Given the description of an element on the screen output the (x, y) to click on. 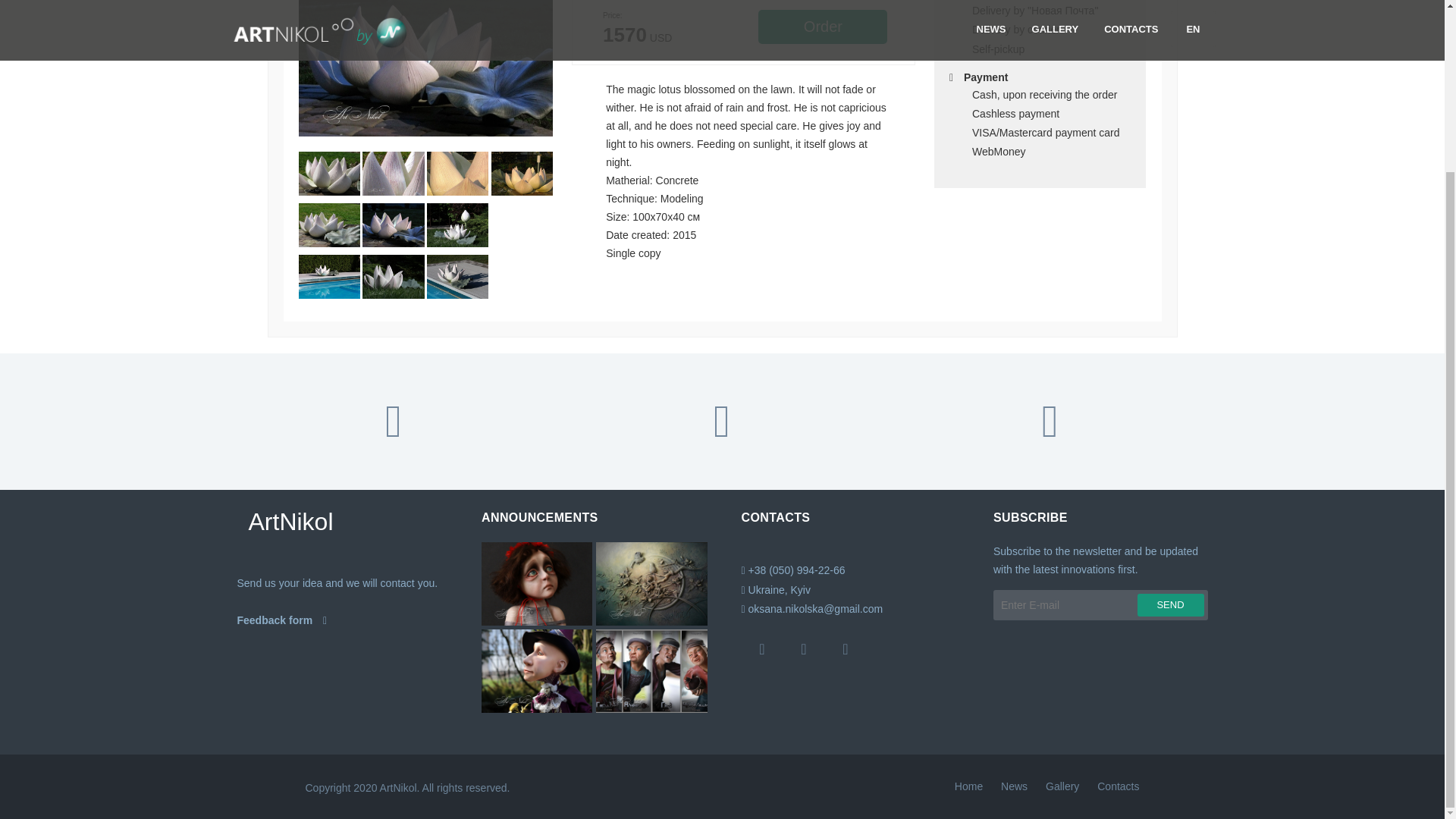
ArtNikol (343, 521)
Feedback form (343, 619)
Order (822, 26)
